Given the description of an element on the screen output the (x, y) to click on. 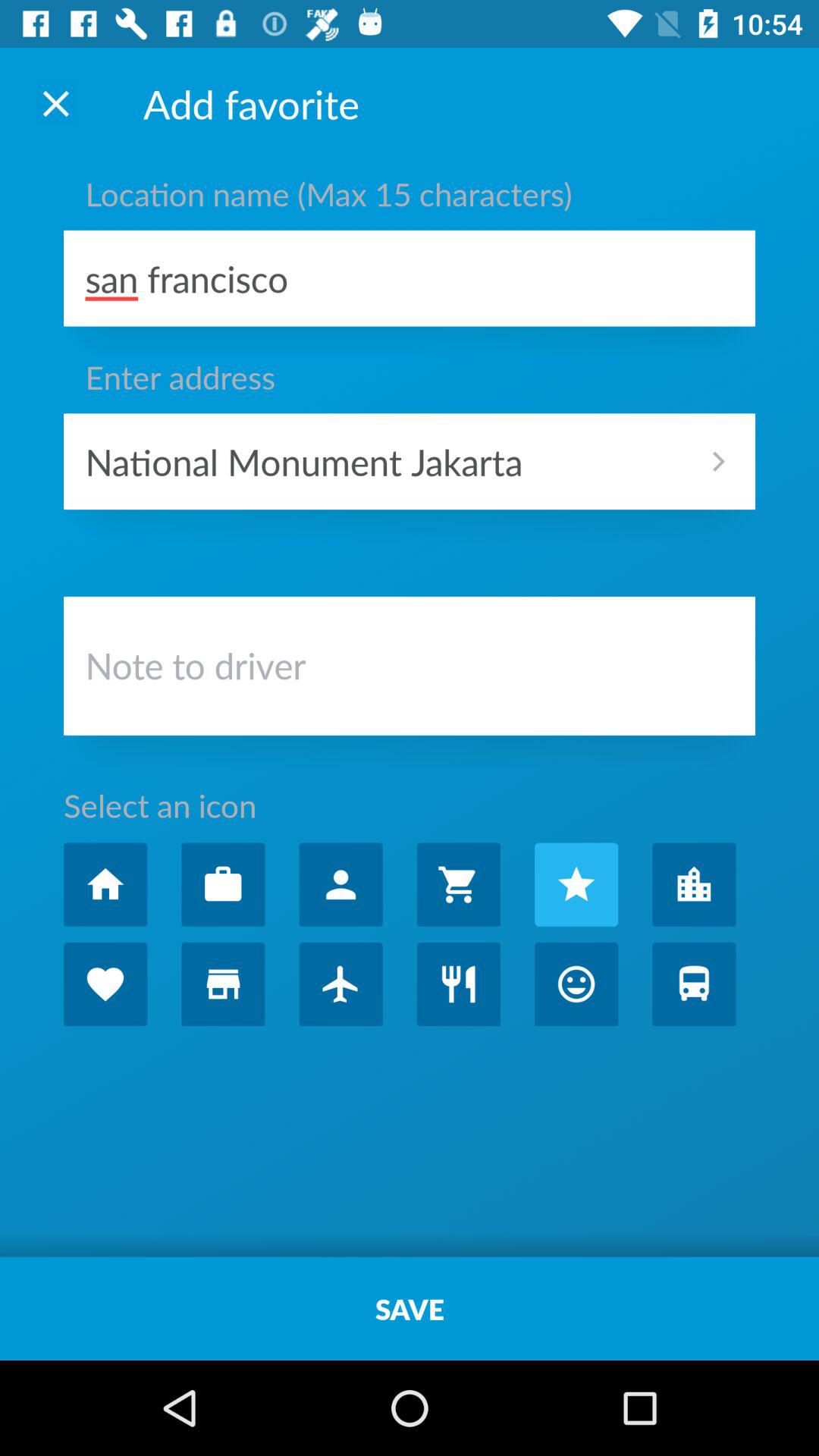
choose the 'liked favorites category (105, 984)
